Given the description of an element on the screen output the (x, y) to click on. 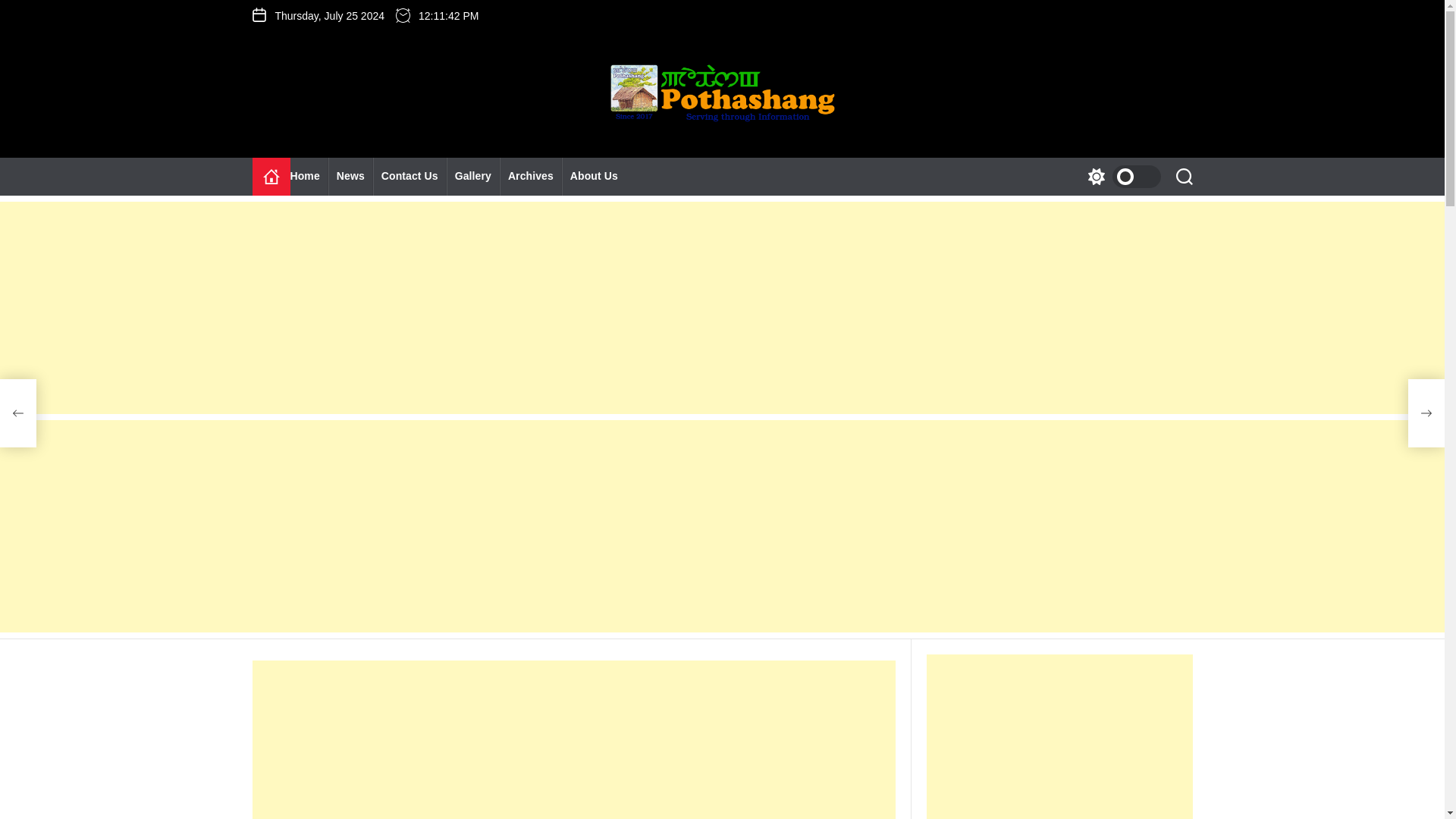
News (350, 176)
Home (308, 176)
Gallery (472, 176)
Switch color mode (1120, 176)
Advertisement (573, 739)
Archives (530, 176)
About Us (594, 176)
Contact Us (409, 176)
